Given the description of an element on the screen output the (x, y) to click on. 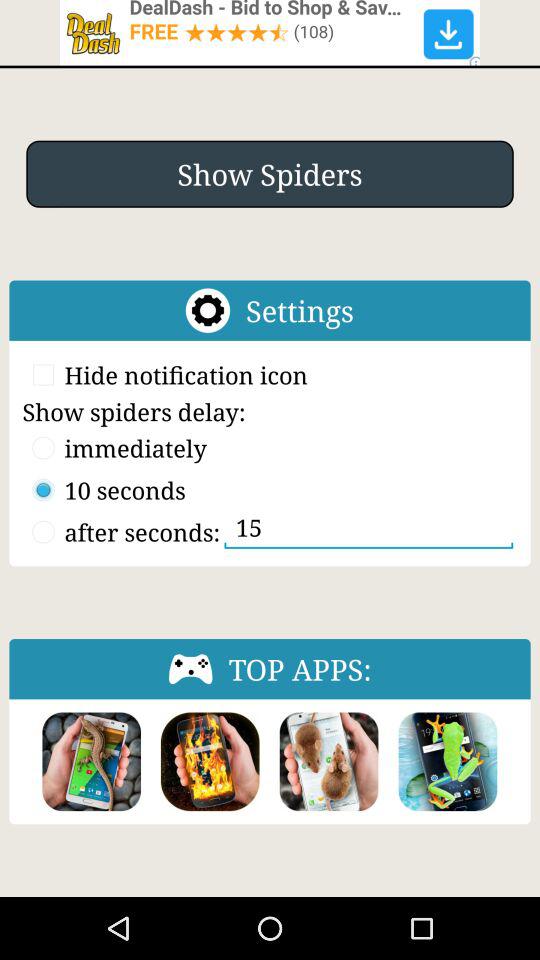
choose a picture (447, 761)
